Given the description of an element on the screen output the (x, y) to click on. 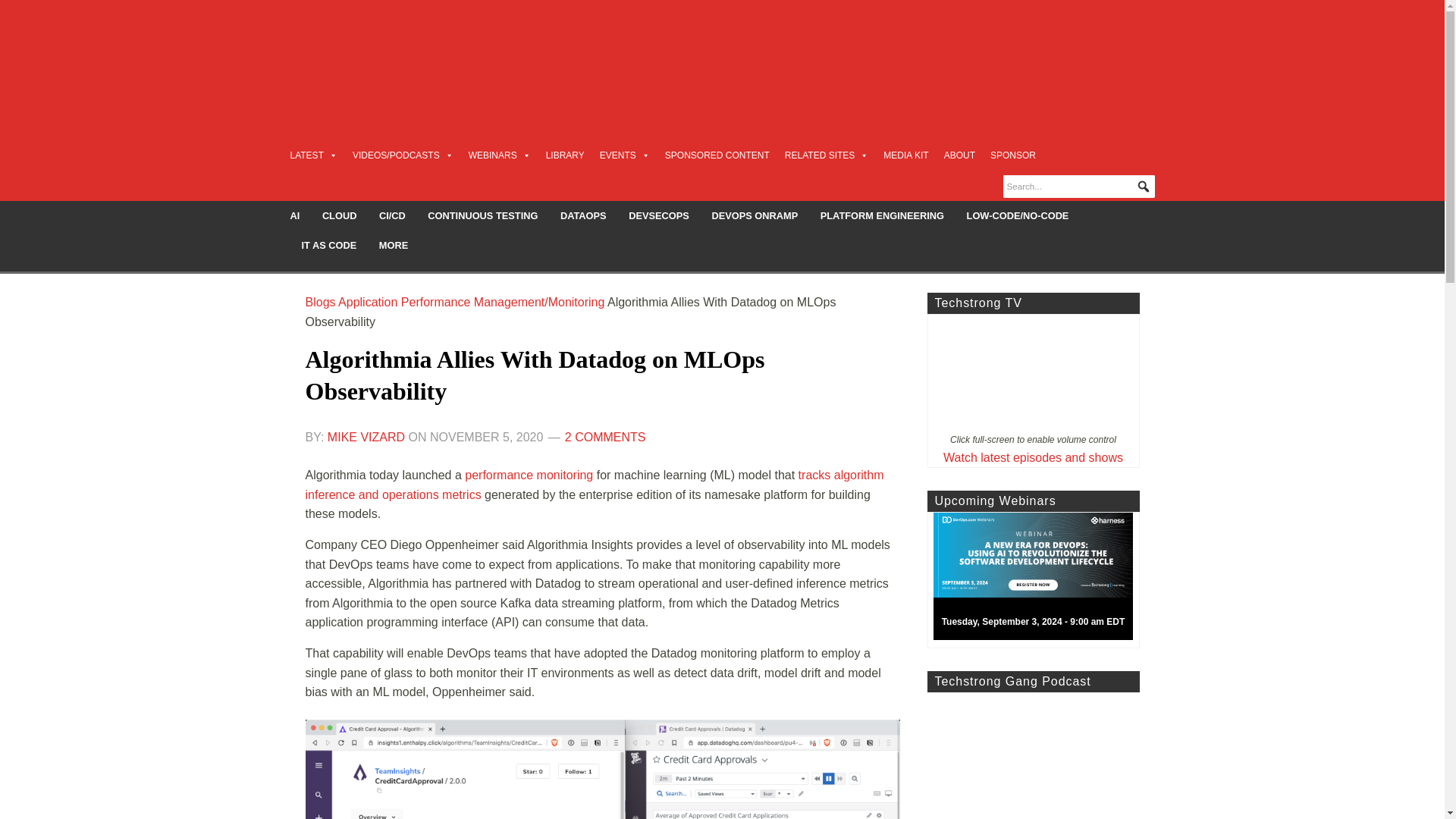
EVENTS (624, 155)
Tuesday, September 3, 2024 - 9:00 am EDT (1038, 579)
RELATED SITES (825, 155)
Techstrong Gang (1032, 755)
WEBINARS (499, 155)
SPONSORED CONTENT (717, 155)
LIBRARY (565, 155)
LATEST (312, 155)
DEVOPS.COM (414, 56)
